Given the description of an element on the screen output the (x, y) to click on. 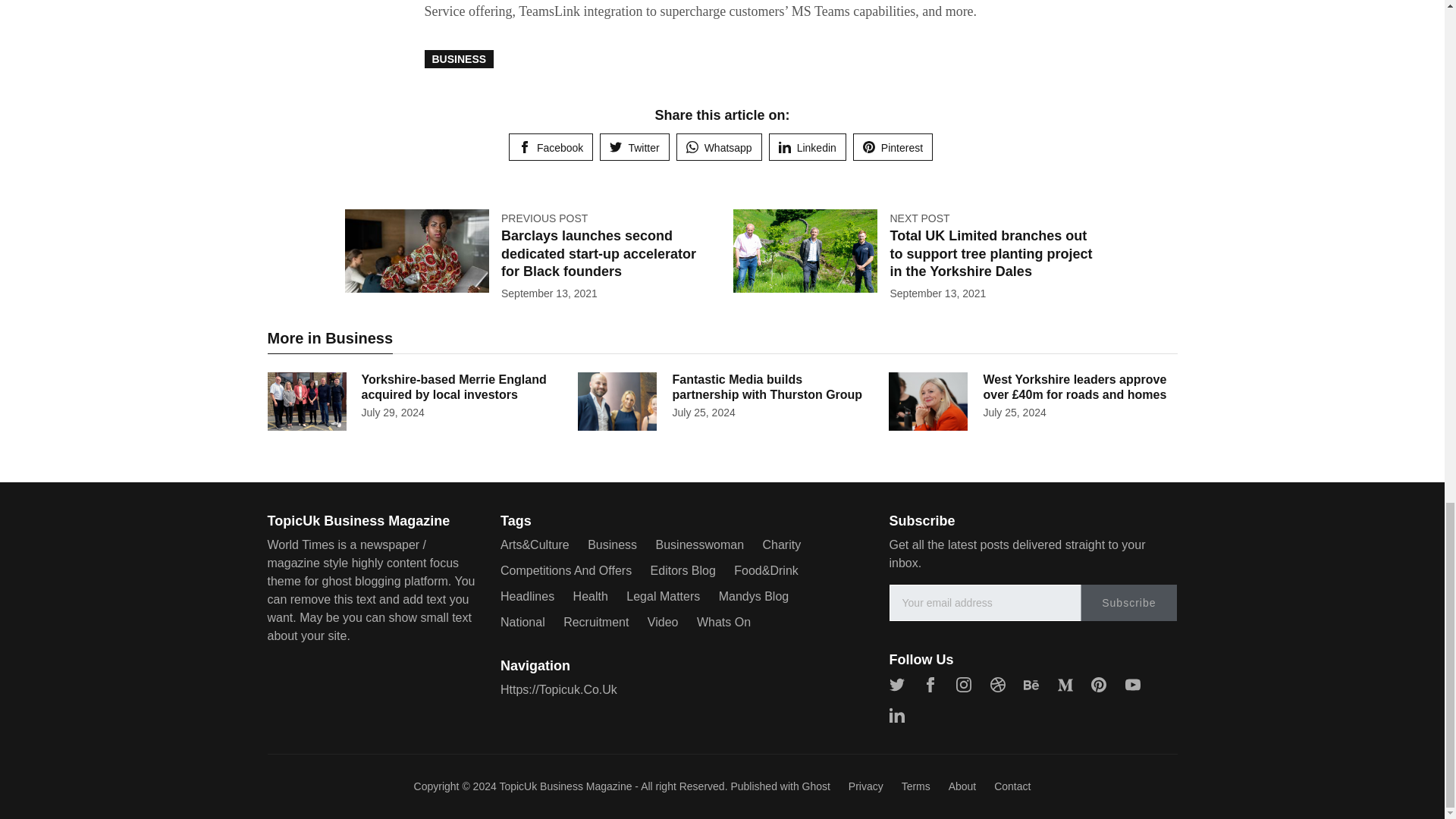
Linkedin (806, 146)
Whatsapp (719, 146)
Pinterest (893, 146)
25 July, 2024 (1013, 412)
NEXT POST (919, 218)
29 July, 2024 (392, 412)
Share on Linkedin (806, 146)
BUSINESS (460, 58)
13 September, 2021 (937, 293)
Share on Twitter (633, 146)
